Given the description of an element on the screen output the (x, y) to click on. 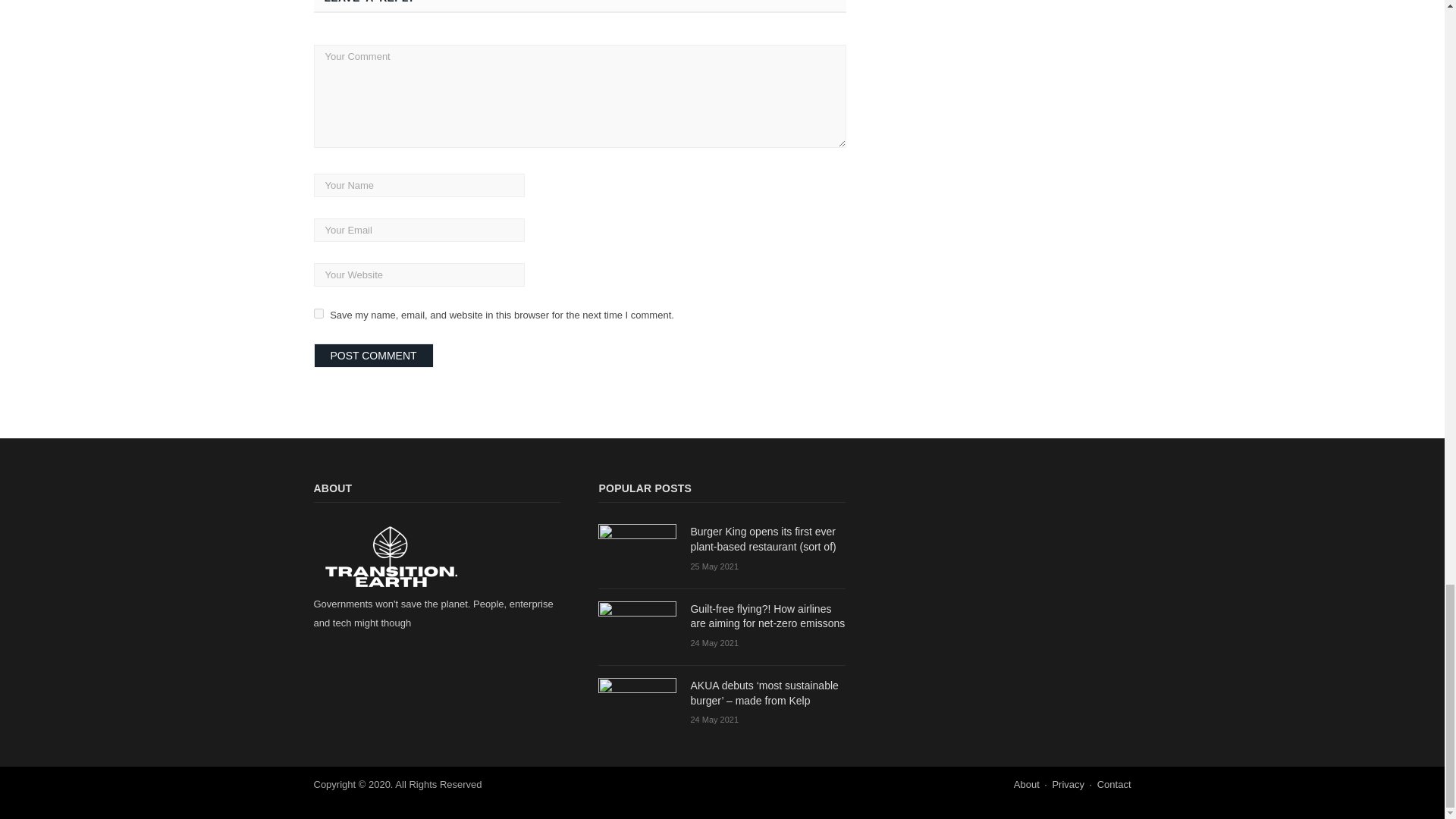
yes (318, 313)
Post Comment (373, 355)
